Given the description of an element on the screen output the (x, y) to click on. 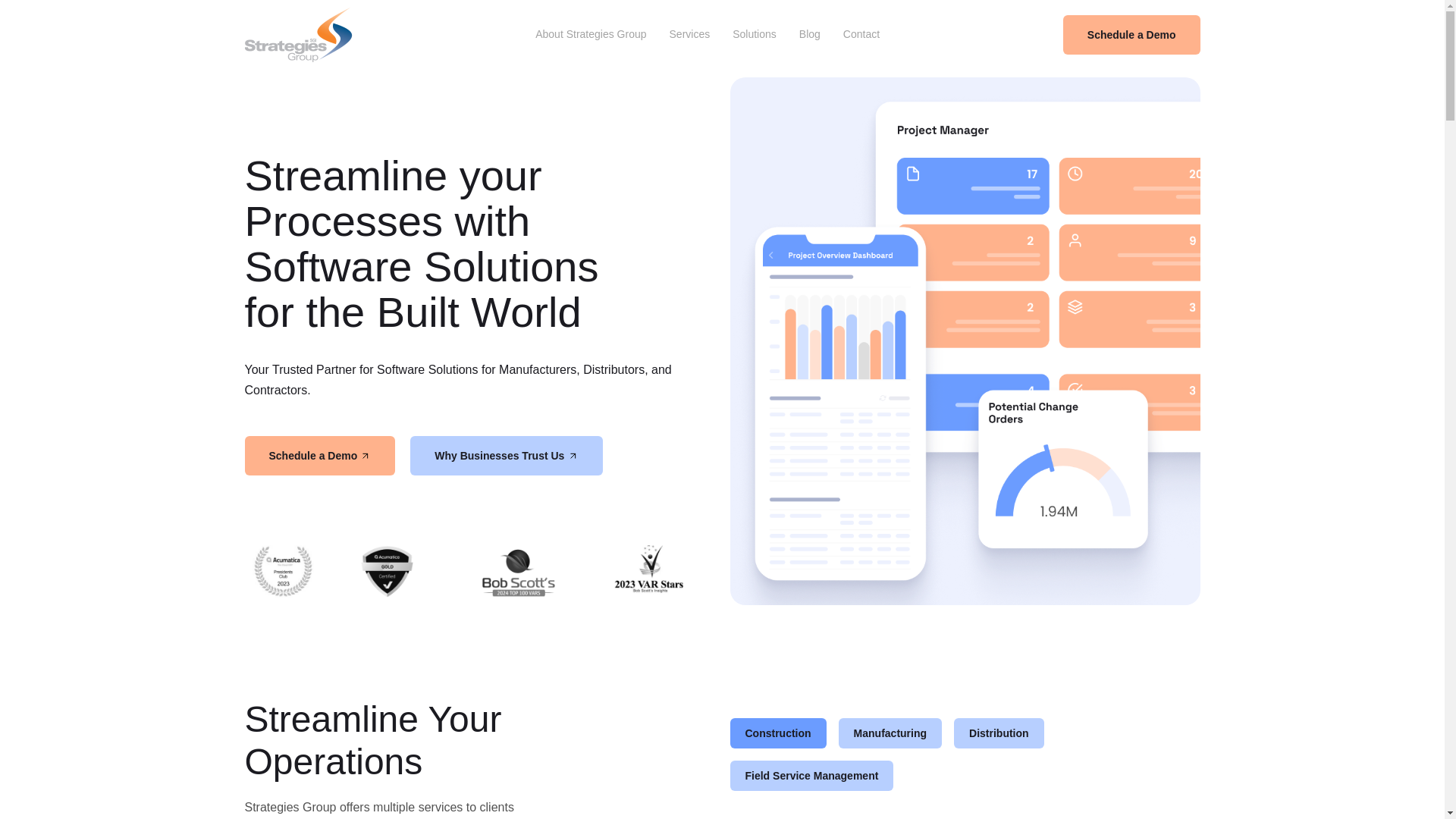
Services (690, 34)
Solutions (753, 34)
Schedule a Demo (319, 455)
Why Businesses Trust Us (506, 455)
Schedule a Demo (1130, 34)
Blog (809, 34)
Construction (777, 733)
About Strategies Group (591, 34)
Contact (861, 34)
